Given the description of an element on the screen output the (x, y) to click on. 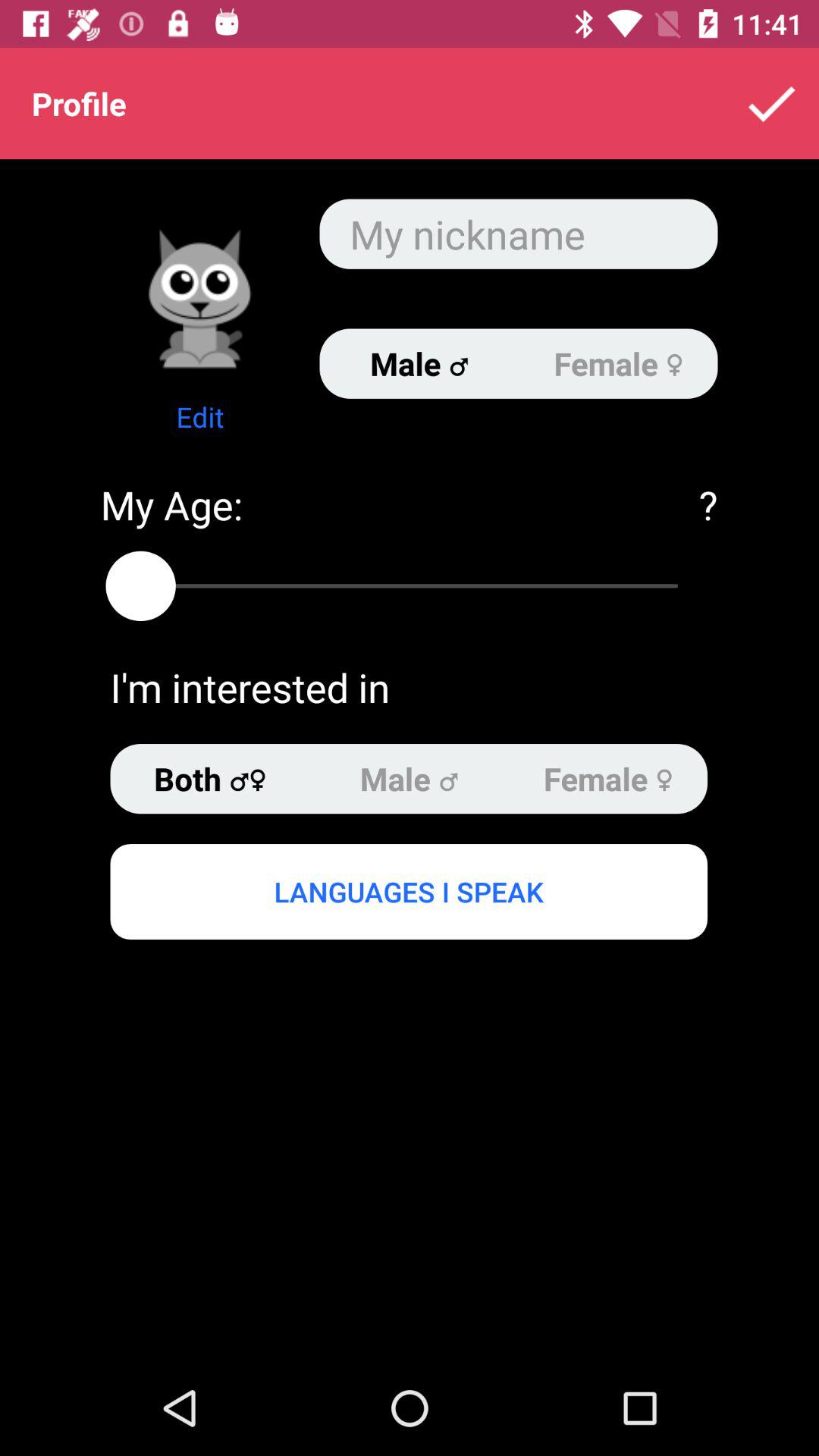
tap item above the my age: icon (199, 416)
